Given the description of an element on the screen output the (x, y) to click on. 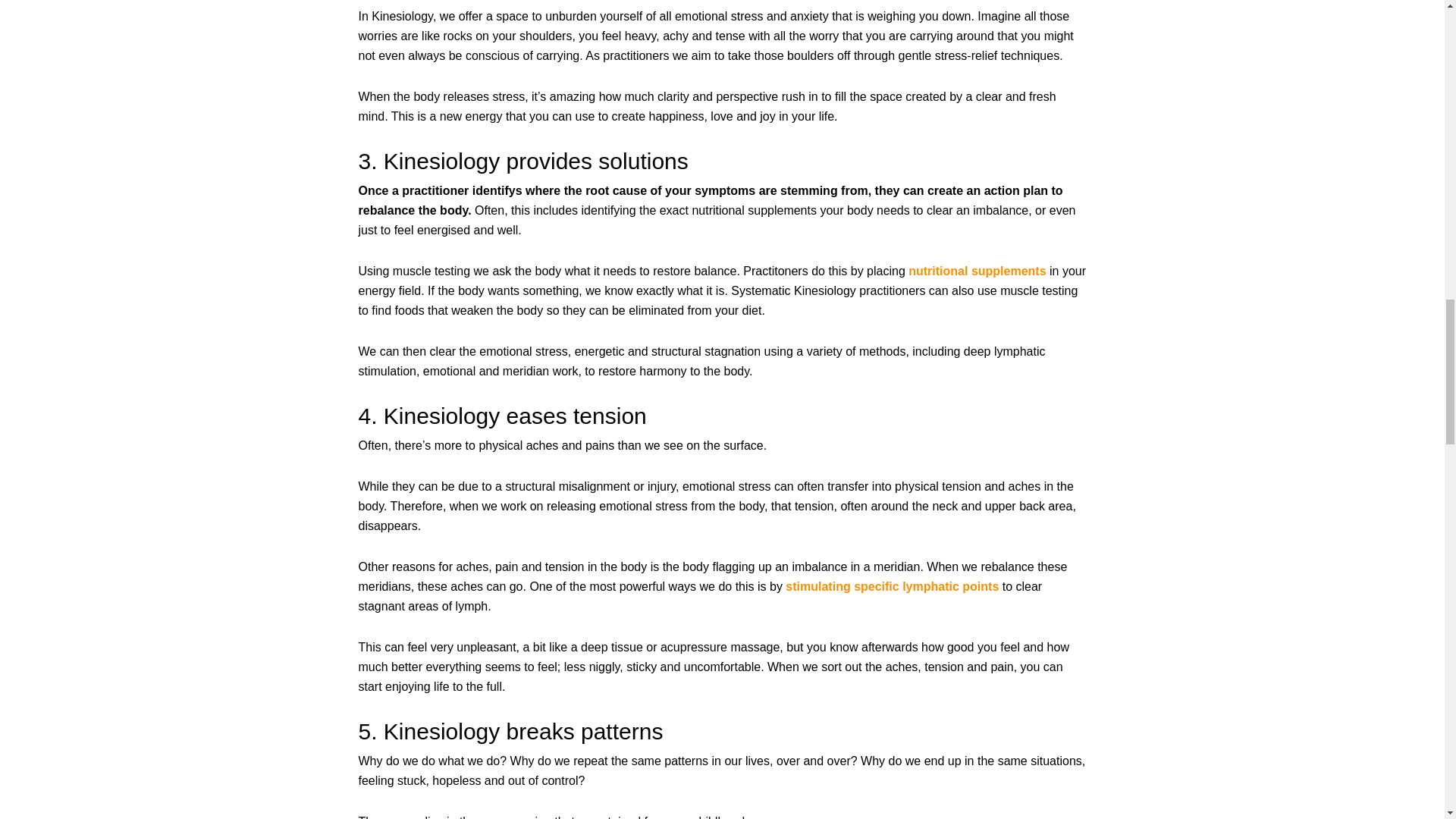
nutritional supplements (976, 270)
stimulating specific lymphatic points (892, 585)
